Given the description of an element on the screen output the (x, y) to click on. 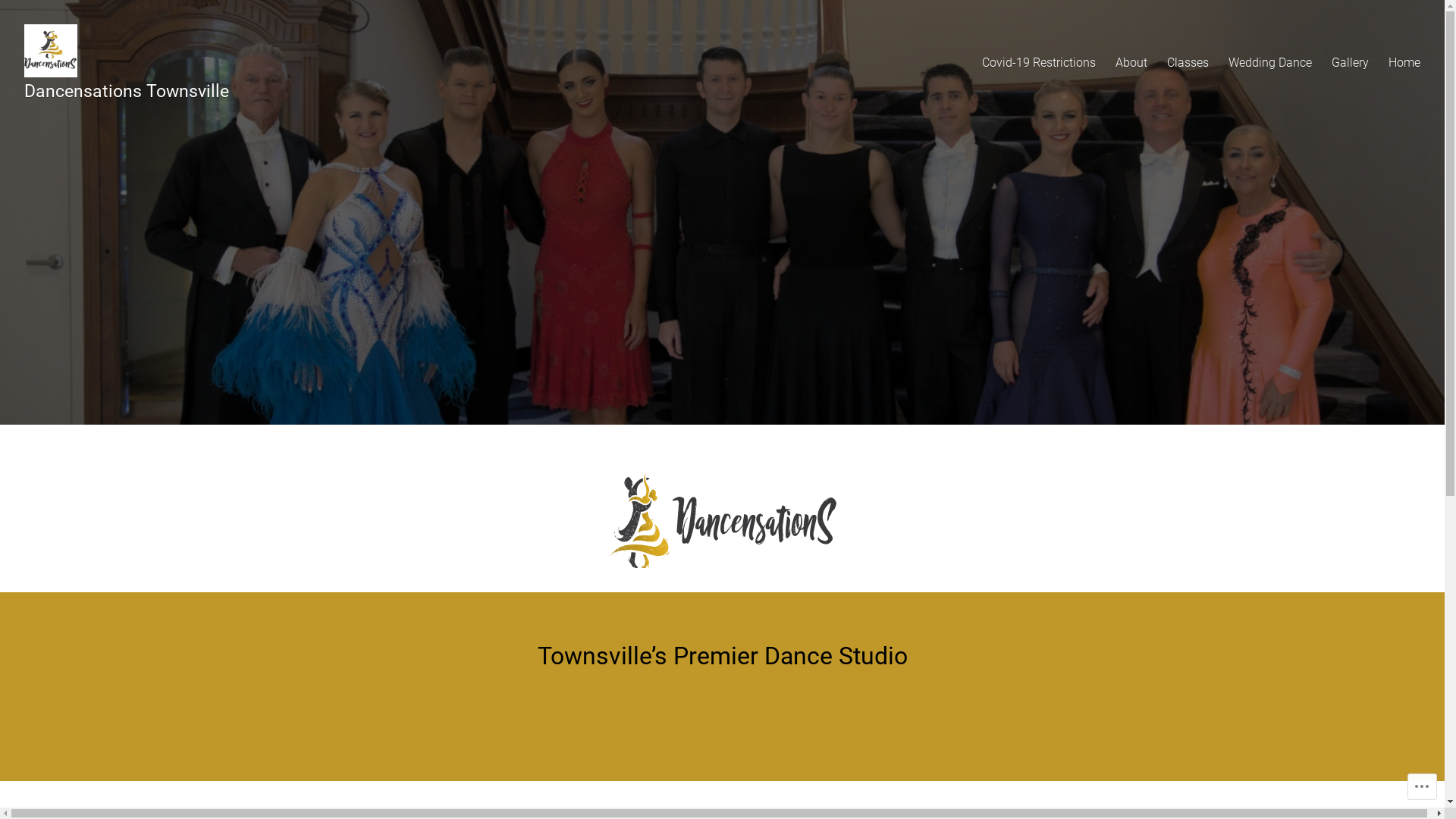
Home Element type: text (1404, 62)
Gallery Element type: text (1349, 62)
Dancensations Townsville Element type: text (126, 91)
About Element type: text (1131, 62)
Classes Element type: text (1187, 62)
Covid-19 Restrictions Element type: text (1038, 62)
Wedding Dance Element type: text (1269, 62)
